Given the description of an element on the screen output the (x, y) to click on. 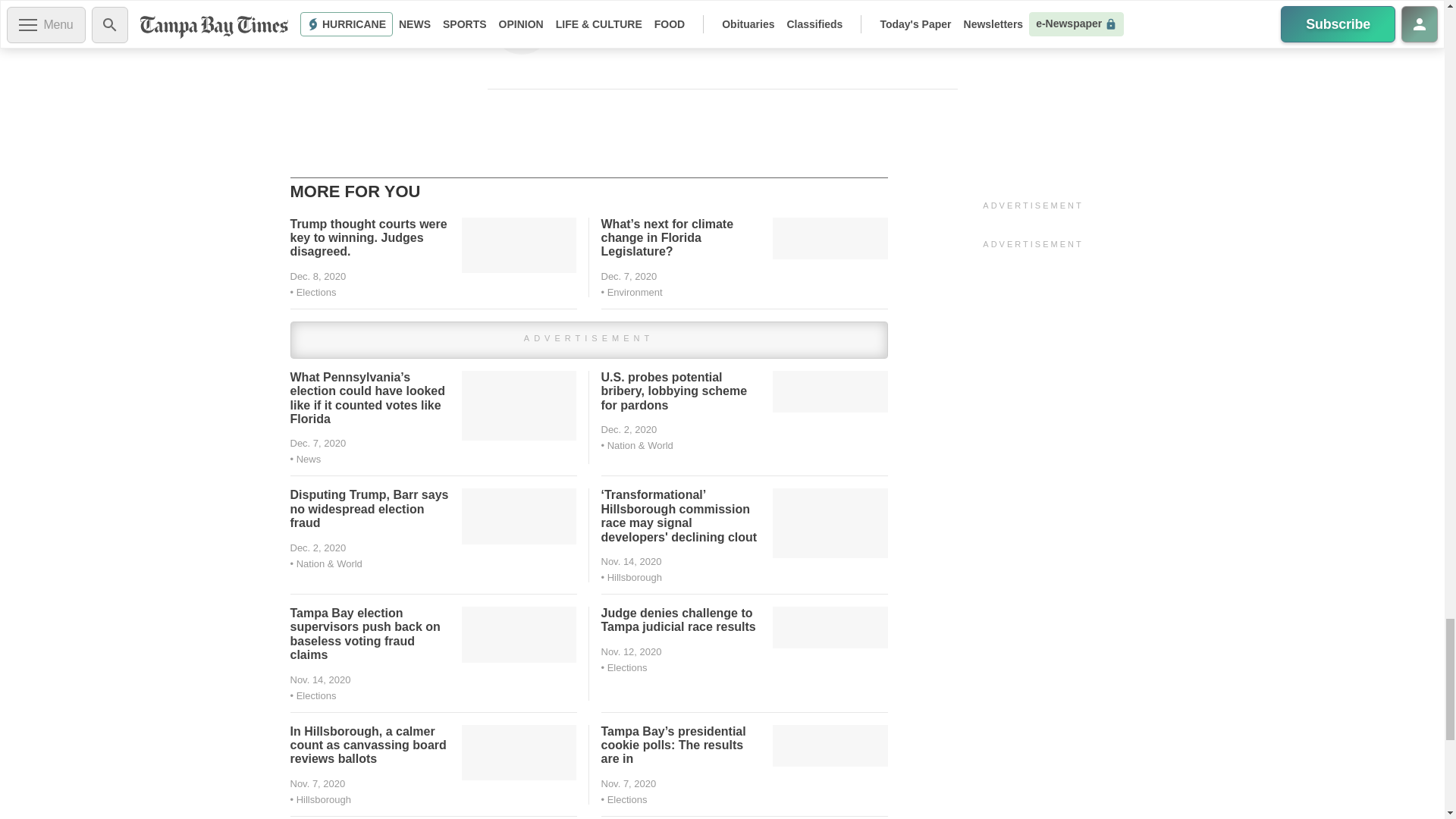
2020-11-11T18:55:55.357Z (630, 651)
2020-12-01T19:39:06.684Z (317, 547)
2020-11-14T14:38:09.514Z (630, 561)
2020-12-08T12:14:28.096Z (317, 276)
2020-12-06T20:11:13.268Z (317, 442)
2020-12-07T10:00:00Z (627, 276)
2020-12-02T00:55:36.024Z (627, 429)
2020-11-14T14:25:02.693Z (319, 679)
